Given the description of an element on the screen output the (x, y) to click on. 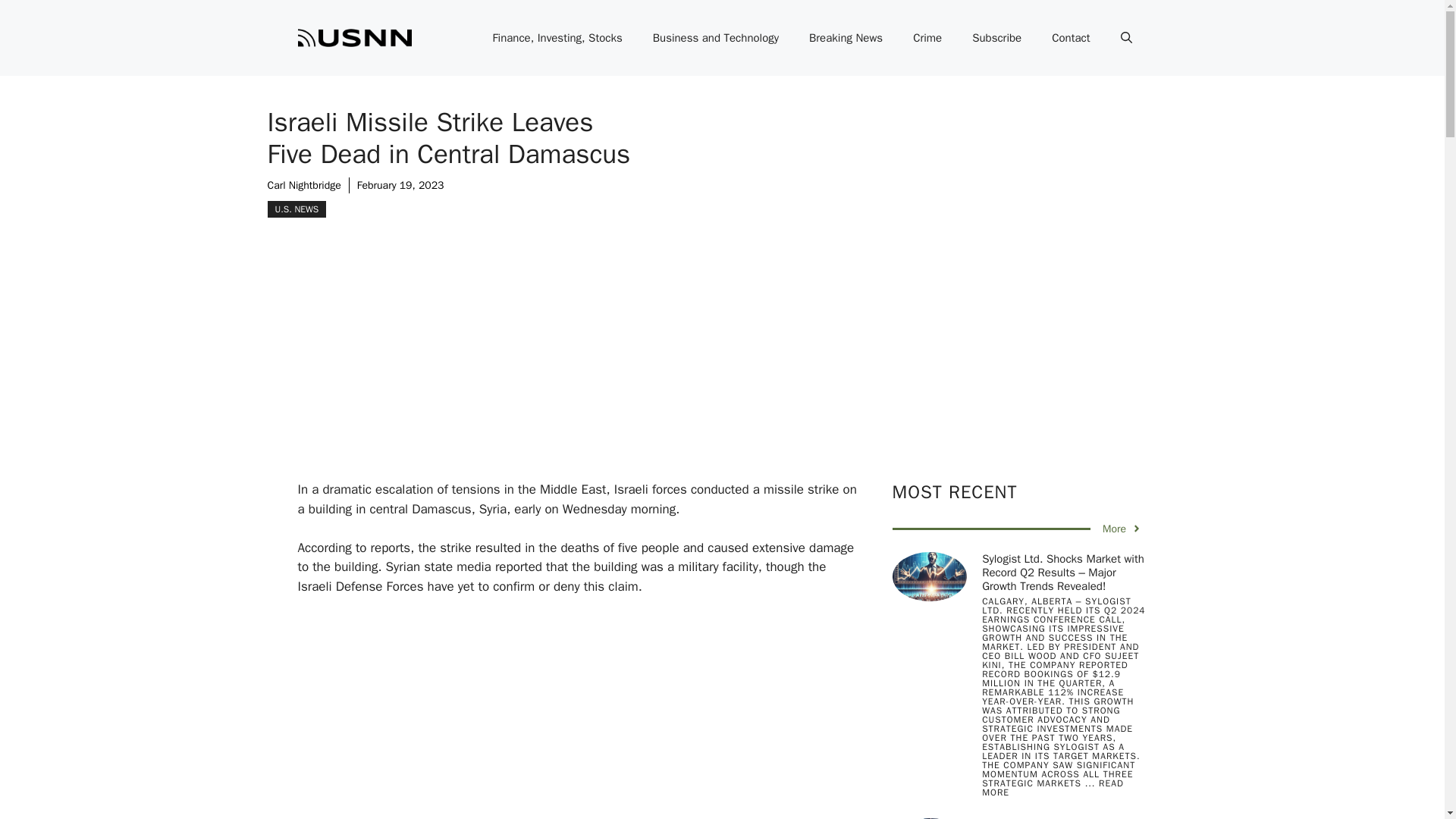
More (1121, 528)
Contact (1070, 37)
Business and Technology (715, 37)
Subscribe (996, 37)
Finance, Investing, Stocks (557, 37)
Advertisement (600, 717)
U.S. NEWS (296, 208)
Carl Nightbridge (303, 185)
Crime (927, 37)
